Given the description of an element on the screen output the (x, y) to click on. 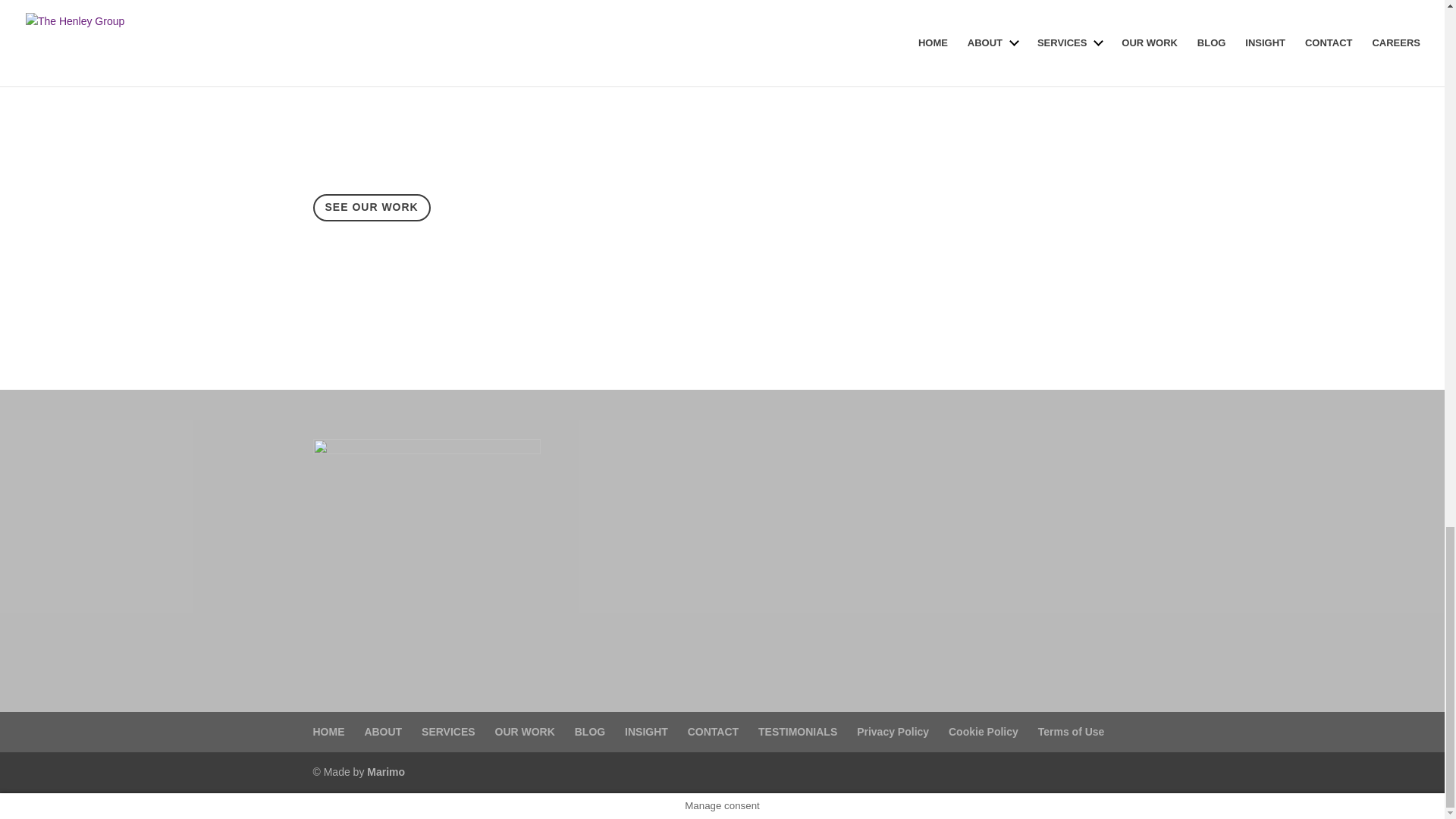
CONTACT (712, 731)
Privacy Policy (892, 731)
Terms of Use (1071, 731)
INSIGHT (646, 731)
SERVICES (449, 731)
BLOG (590, 731)
HOME (328, 731)
SEE OUR WORK (371, 207)
TESTIMONIALS (797, 731)
Cookie Policy (983, 731)
